Given the description of an element on the screen output the (x, y) to click on. 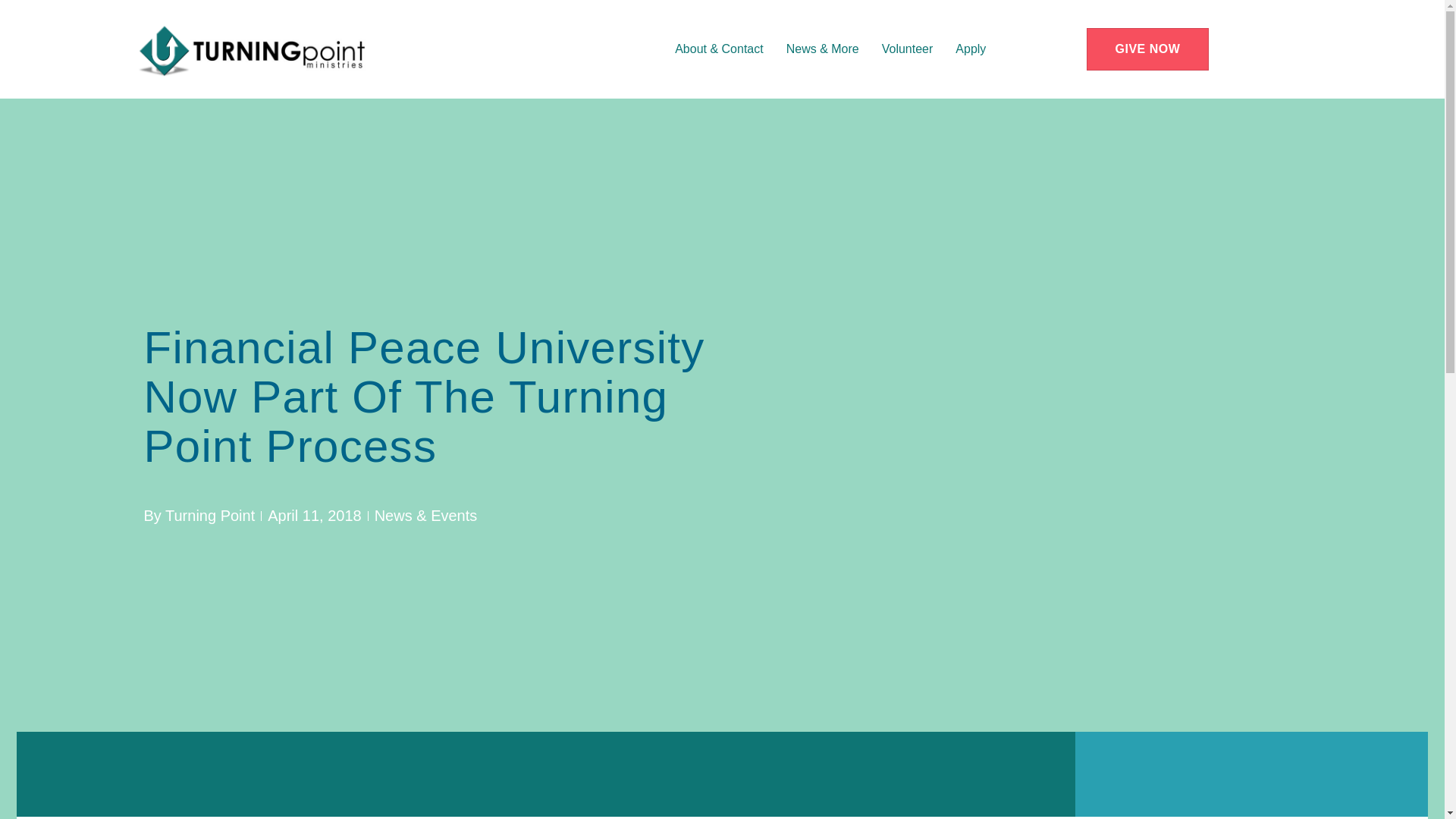
Volunteer (907, 48)
Apply (970, 48)
GIVE NOW (1147, 48)
